Given the description of an element on the screen output the (x, y) to click on. 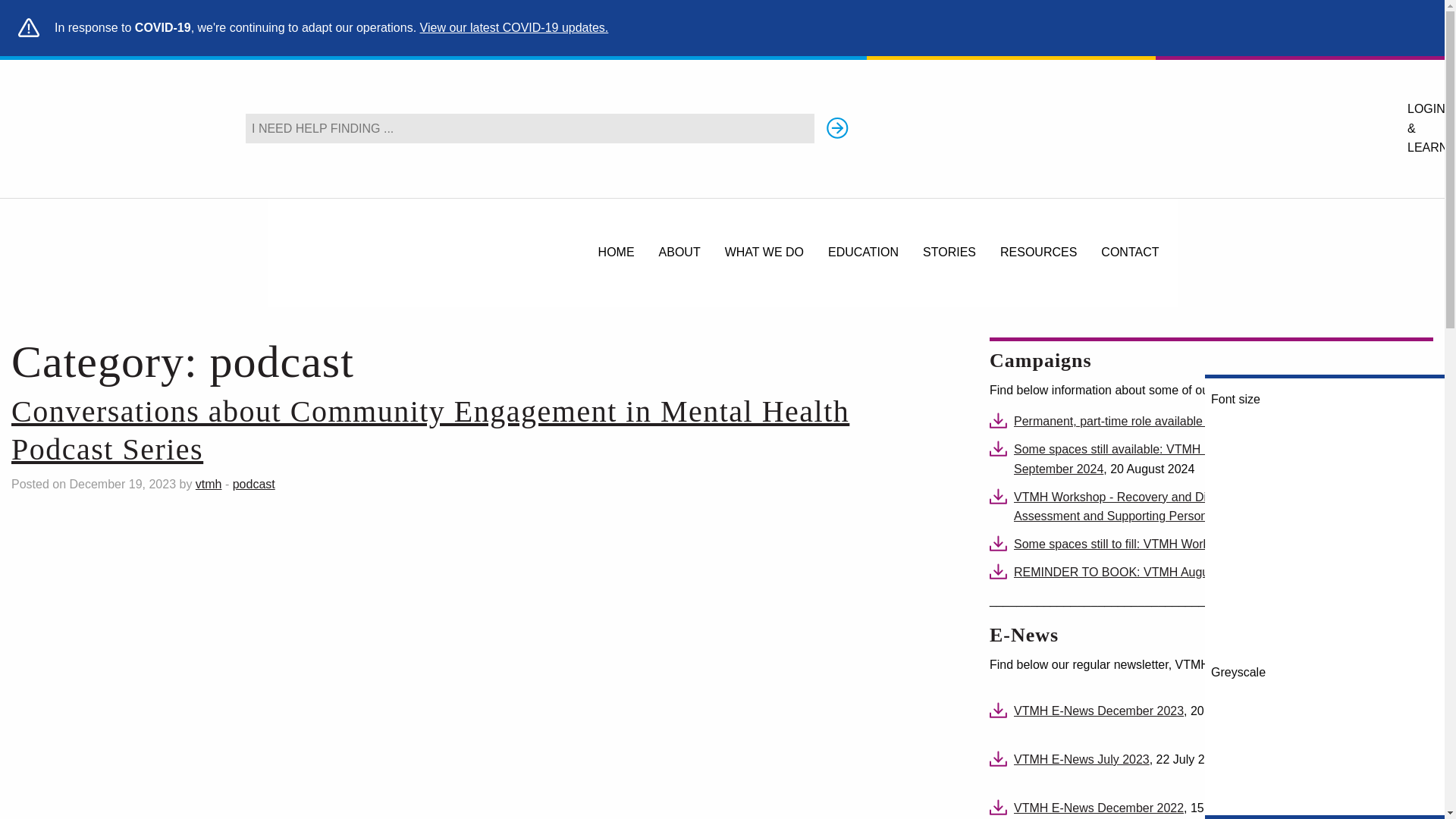
ABOUT (679, 252)
View our latest COVID-19 updates. (514, 27)
WHAT WE DO (764, 252)
Posts by vtmh (208, 483)
EDUCATION (863, 252)
HOME (616, 252)
